Given the description of an element on the screen output the (x, y) to click on. 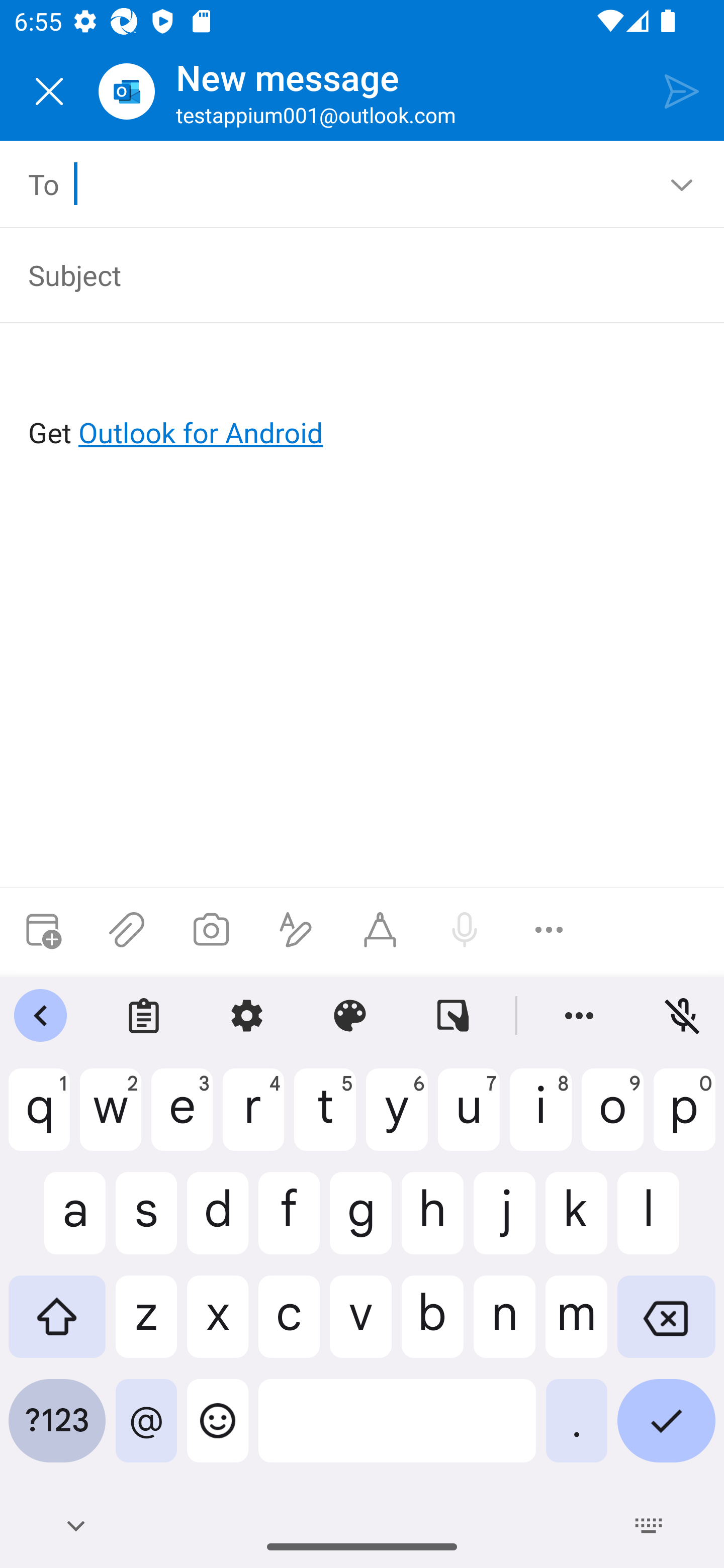
Close (49, 91)
Send (681, 90)
Subject (347, 274)


Get Outlook for Android (363, 400)
Attach meeting (42, 929)
Attach files (126, 929)
Take a photo (210, 929)
Show formatting options (295, 929)
Start Ink compose (380, 929)
More options (548, 929)
